Given the description of an element on the screen output the (x, y) to click on. 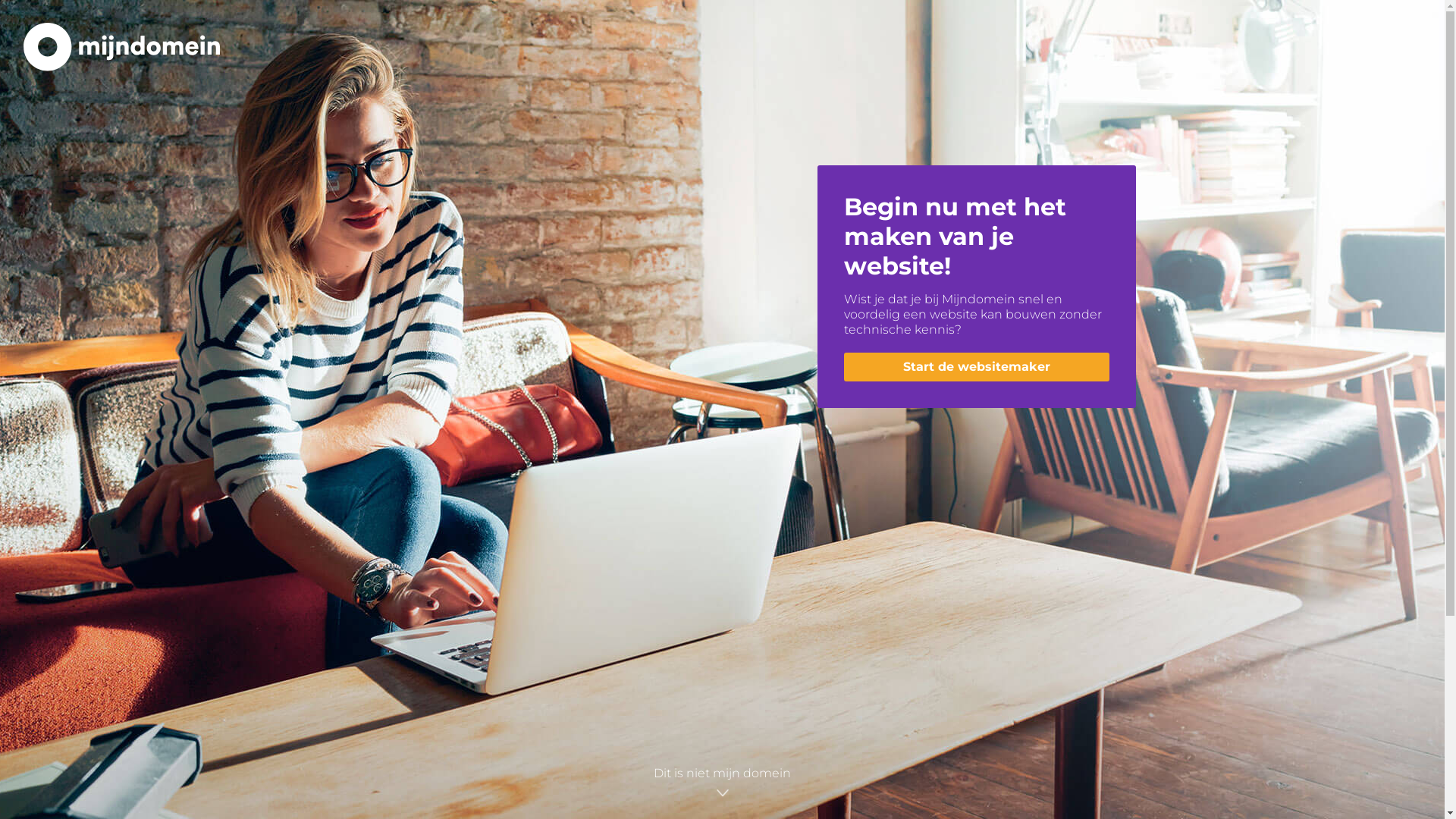
Start de websitemaker Element type: text (975, 366)
Dit is niet mijn domein Element type: text (721, 784)
